Given the description of an element on the screen output the (x, y) to click on. 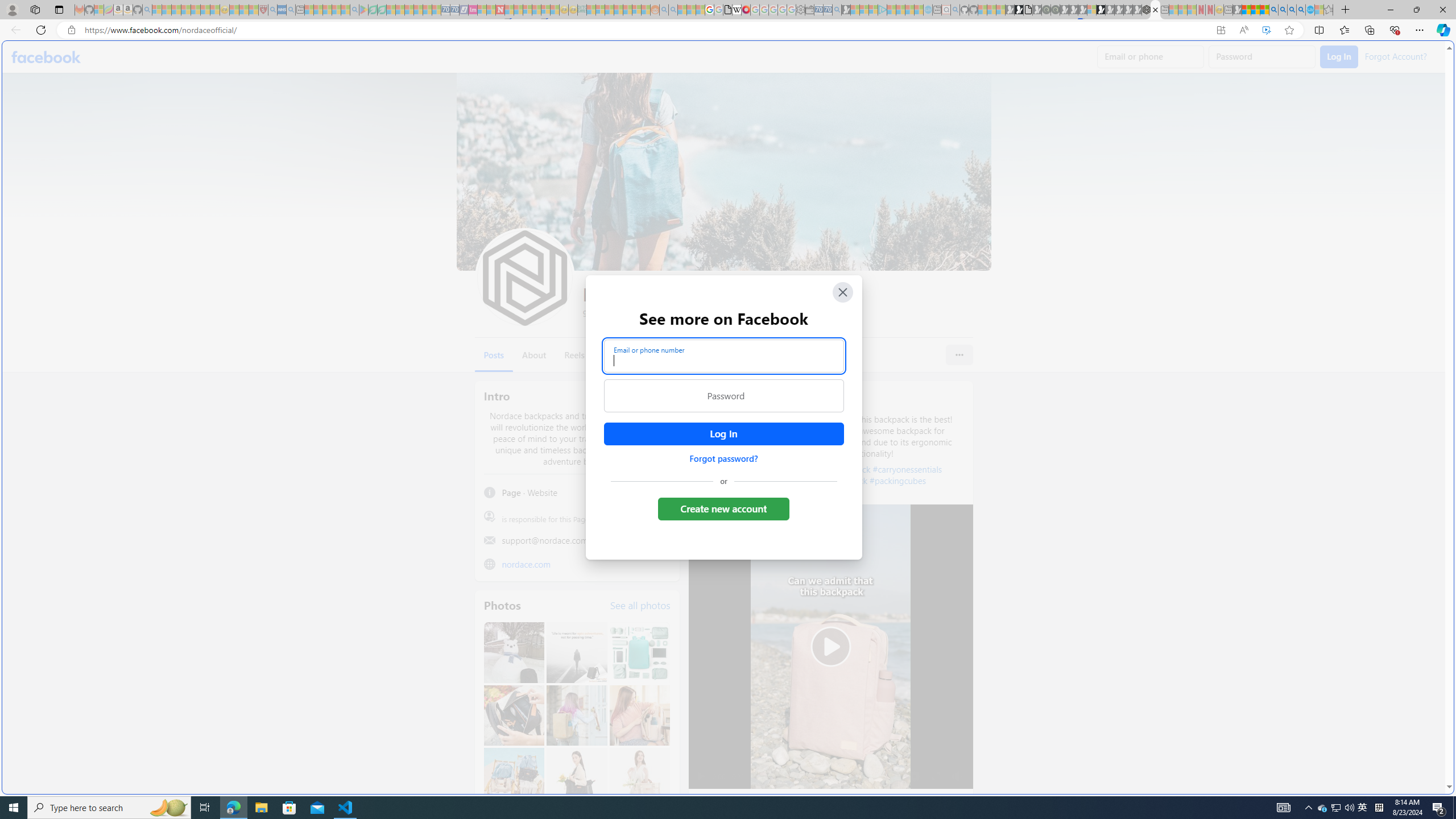
Close split screen (1208, 57)
utah sues federal government - Search (922, 389)
Facebook (46, 56)
DITOGAMES AG Imprint - Sleeping (581, 9)
